Given the description of an element on the screen output the (x, y) to click on. 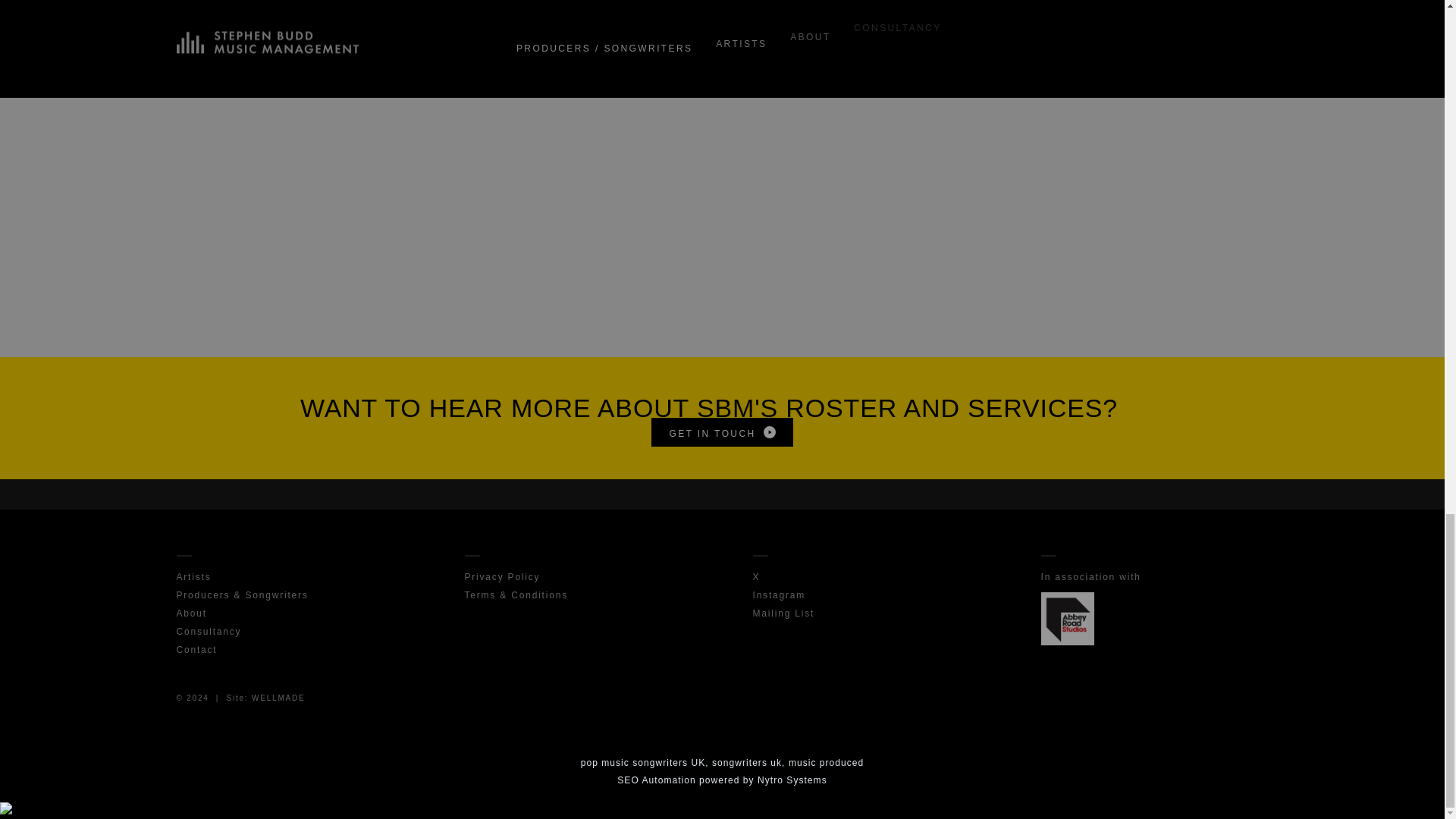
Site: WELLMADE (264, 696)
Contact (196, 648)
Instagram (778, 594)
SEO Automation powered by Nytro Systems (722, 773)
Consultancy (208, 630)
GET IN TOUCH (721, 431)
About (191, 612)
Mailing List (782, 612)
Artists (193, 575)
Privacy Policy (502, 575)
